Given the description of an element on the screen output the (x, y) to click on. 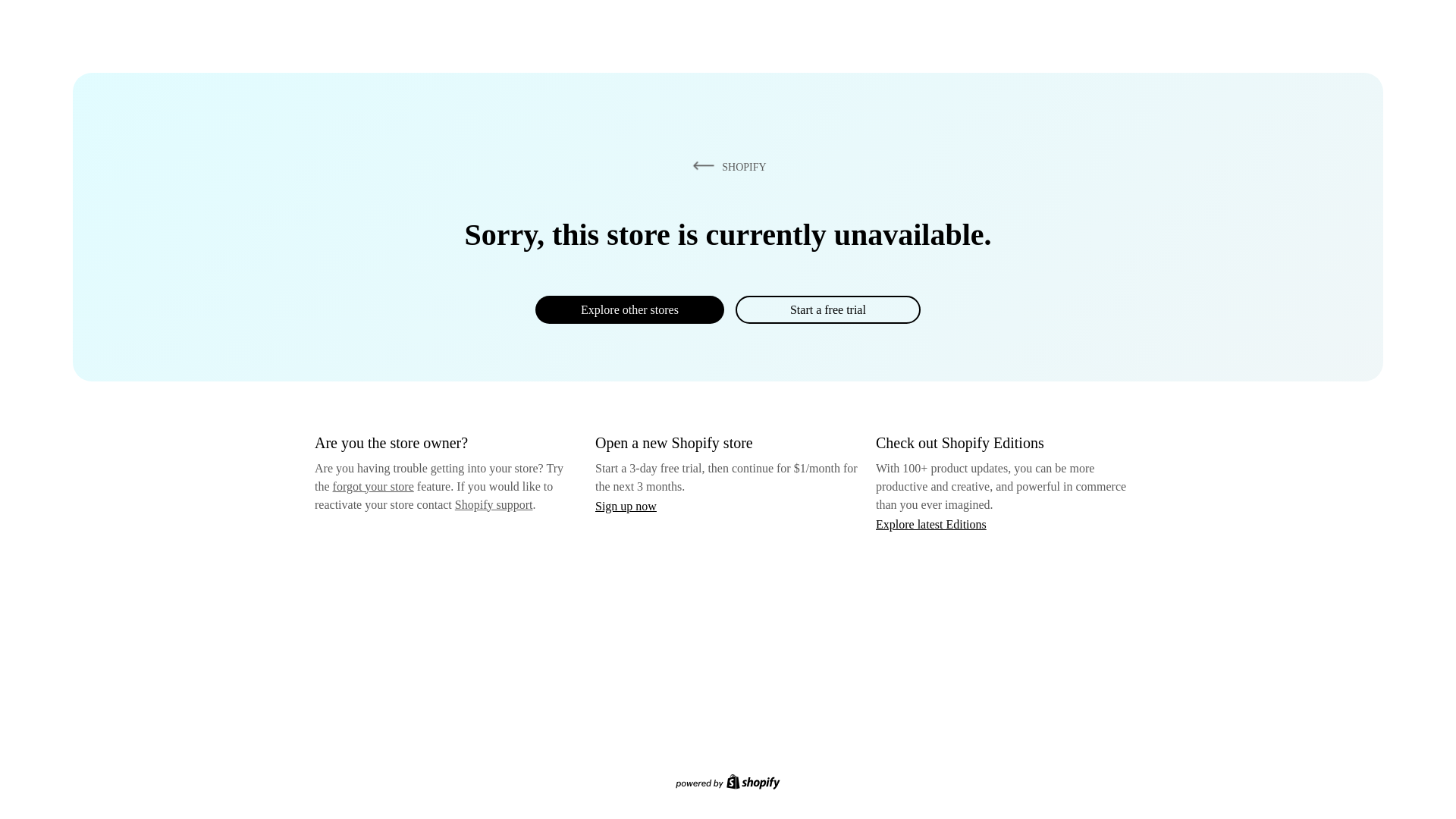
Explore latest Editions (931, 523)
Shopify support (493, 504)
forgot your store (373, 486)
SHOPIFY (726, 166)
Start a free trial (827, 309)
Sign up now (625, 505)
Explore other stores (629, 309)
